Given the description of an element on the screen output the (x, y) to click on. 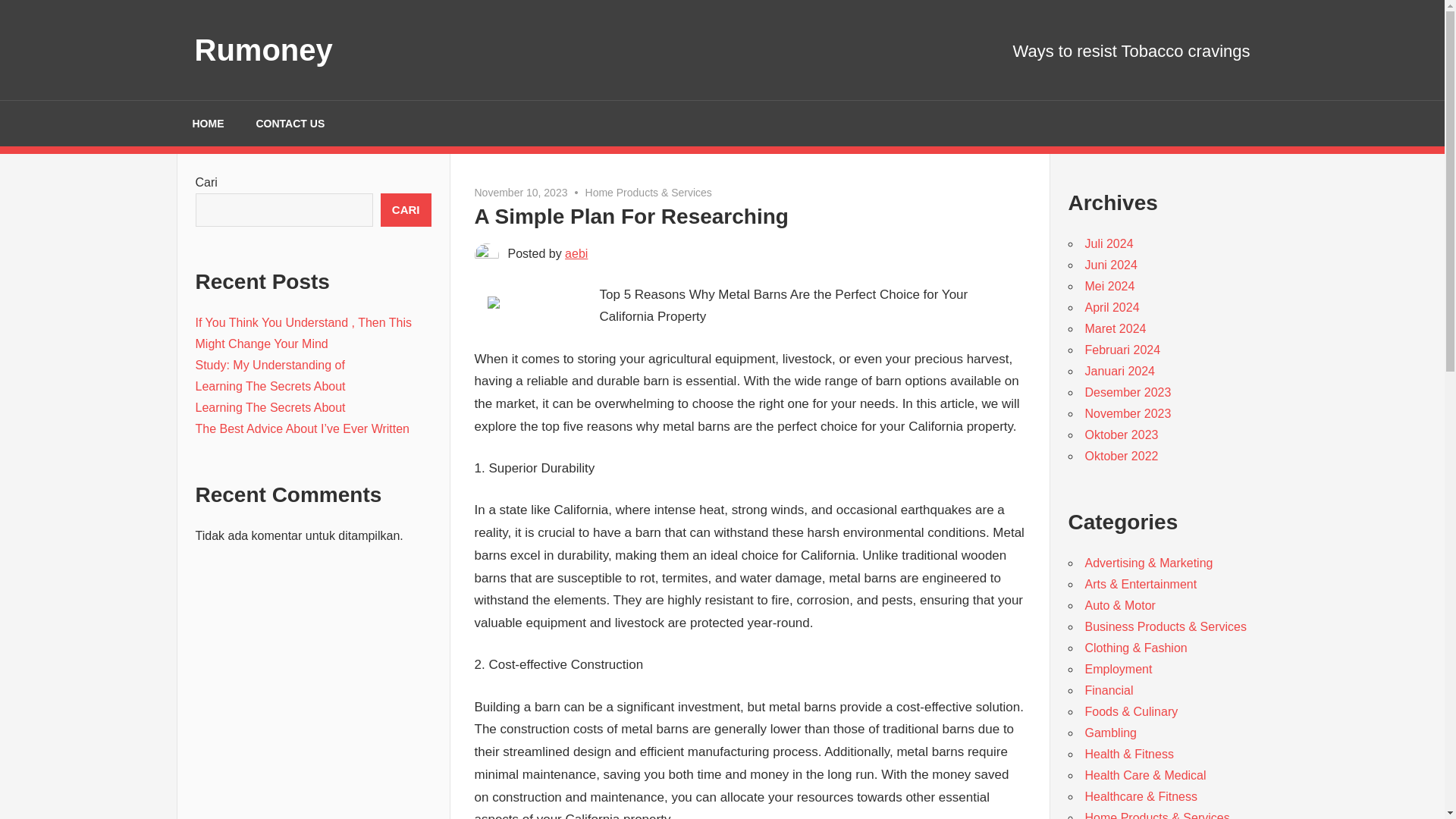
Oktober 2023 (1120, 434)
Oktober 2022 (1120, 455)
Februari 2024 (1122, 349)
HOME (208, 123)
CARI (405, 209)
Juli 2024 (1108, 243)
Study: My Understanding of (270, 364)
Learning The Secrets About (270, 386)
Desember 2023 (1127, 391)
Gambling (1109, 732)
Employment (1117, 668)
November 2023 (1127, 413)
aebi (576, 253)
1:12 pm (520, 192)
Juni 2024 (1110, 264)
